Given the description of an element on the screen output the (x, y) to click on. 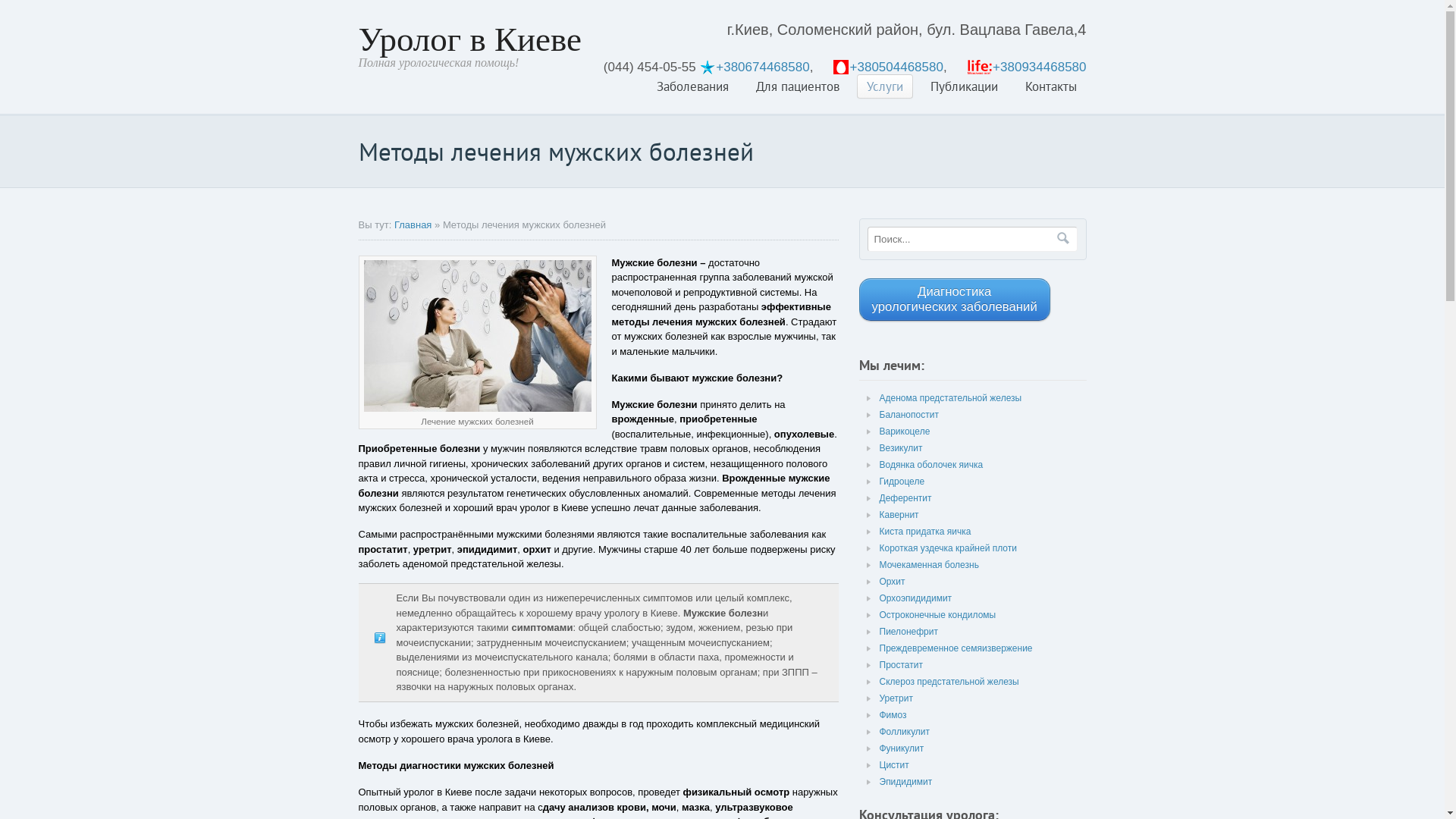
+380504468580 Element type: text (896, 66)
+380934468580 Element type: text (1038, 66)
+380674468580 Element type: text (762, 66)
